Given the description of an element on the screen output the (x, y) to click on. 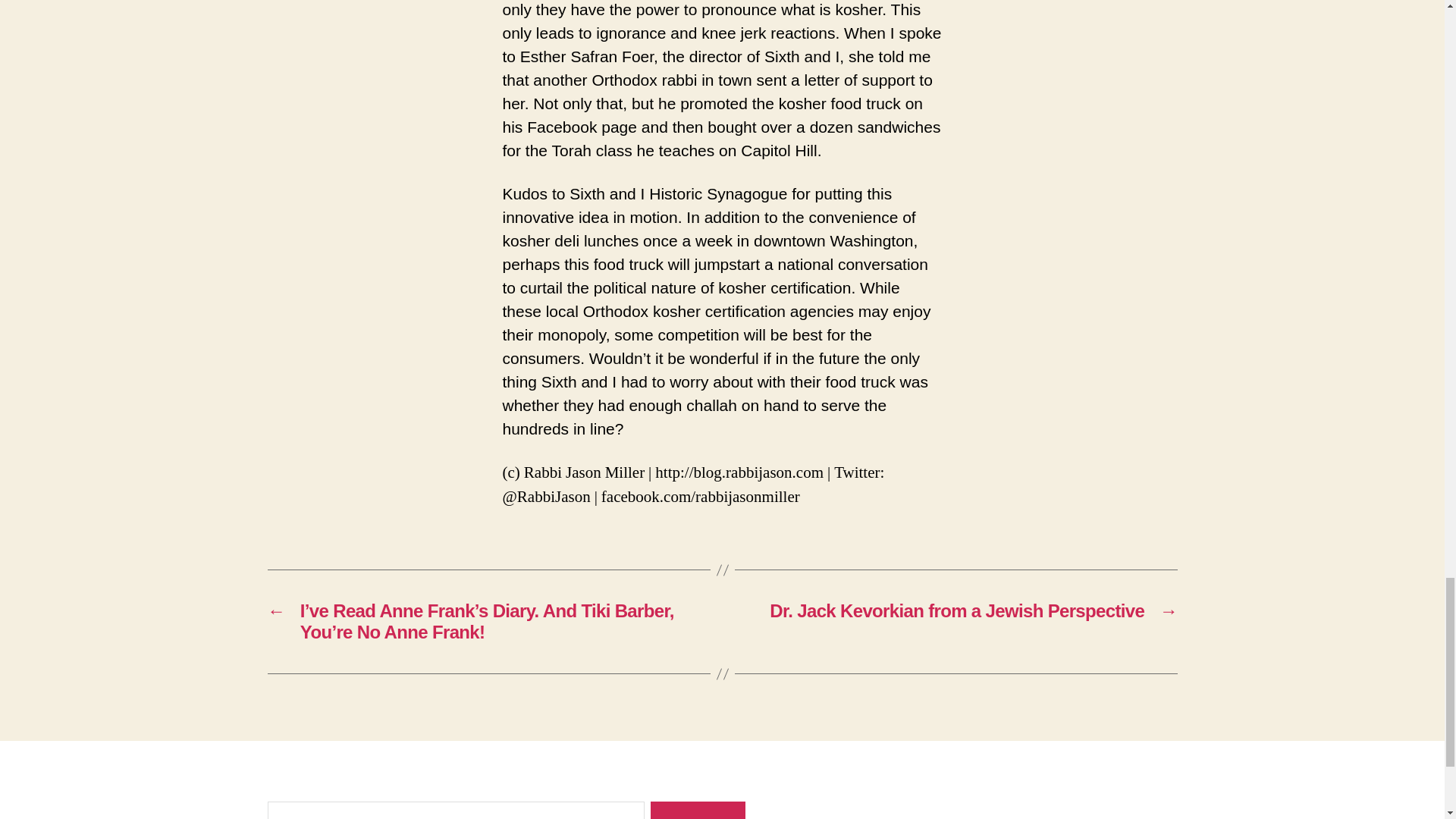
Search (697, 810)
Search (697, 810)
